Given the description of an element on the screen output the (x, y) to click on. 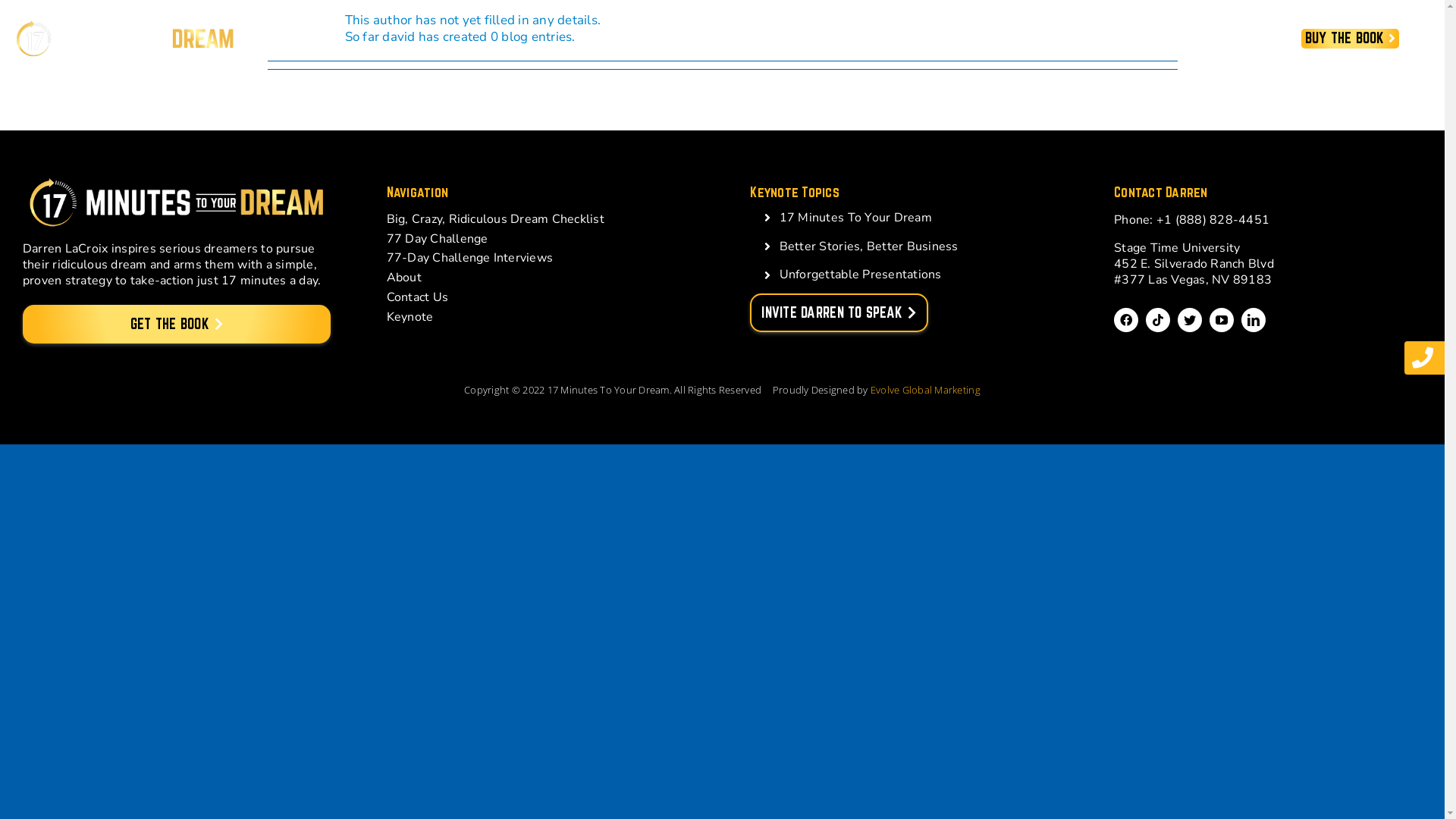
CHALLENGE Element type: text (1192, 38)
KEYNOTE Element type: text (941, 38)
About Element type: text (540, 275)
Unforgettable Presentations Element type: text (860, 274)
Evolve Global Marketing Element type: text (925, 389)
MEET DARREN Element type: text (809, 38)
Keynote Element type: text (540, 315)
Big, Crazy, Ridiculous Dream Checklist Element type: text (540, 217)
Contact Us Element type: text (540, 295)
INVITE DARREN TO SPEAK Element type: text (838, 312)
17 Minutes To Your Dream Element type: text (855, 217)
BUY THE BOOK Element type: text (1349, 38)
77 Day Challenge Element type: text (540, 237)
77-Day Challenge Interviews Element type: text (540, 256)
Better Stories, Better Business Element type: text (868, 246)
CONTACT Element type: text (1059, 38)
GET THE BOOK Element type: text (176, 324)
+1 (888) 828-4451 Element type: text (1212, 219)
